Given the description of an element on the screen output the (x, y) to click on. 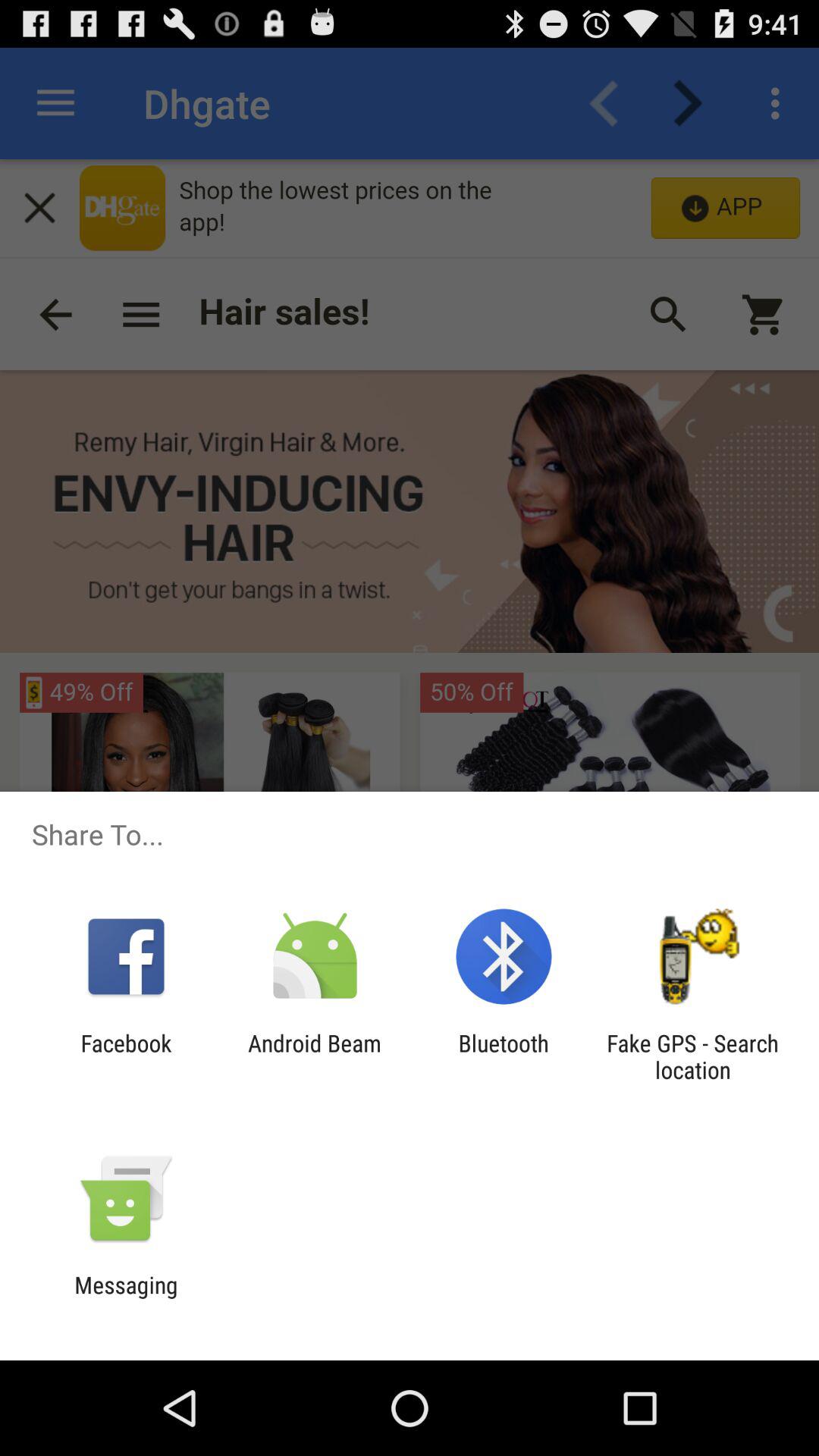
tap the fake gps search item (692, 1056)
